Given the description of an element on the screen output the (x, y) to click on. 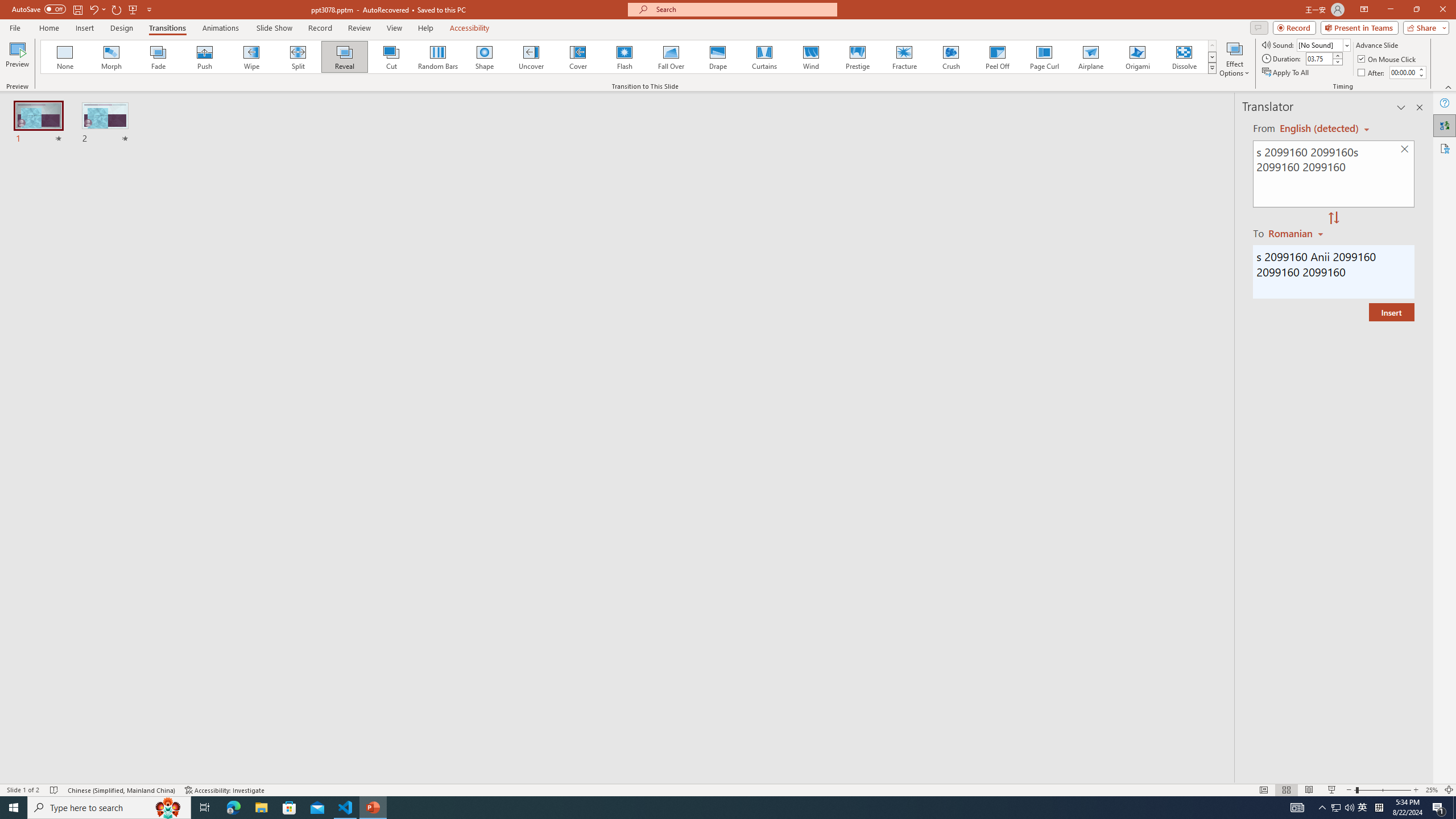
Crush (950, 56)
Peel Off (997, 56)
Clear text (1404, 149)
